Given the description of an element on the screen output the (x, y) to click on. 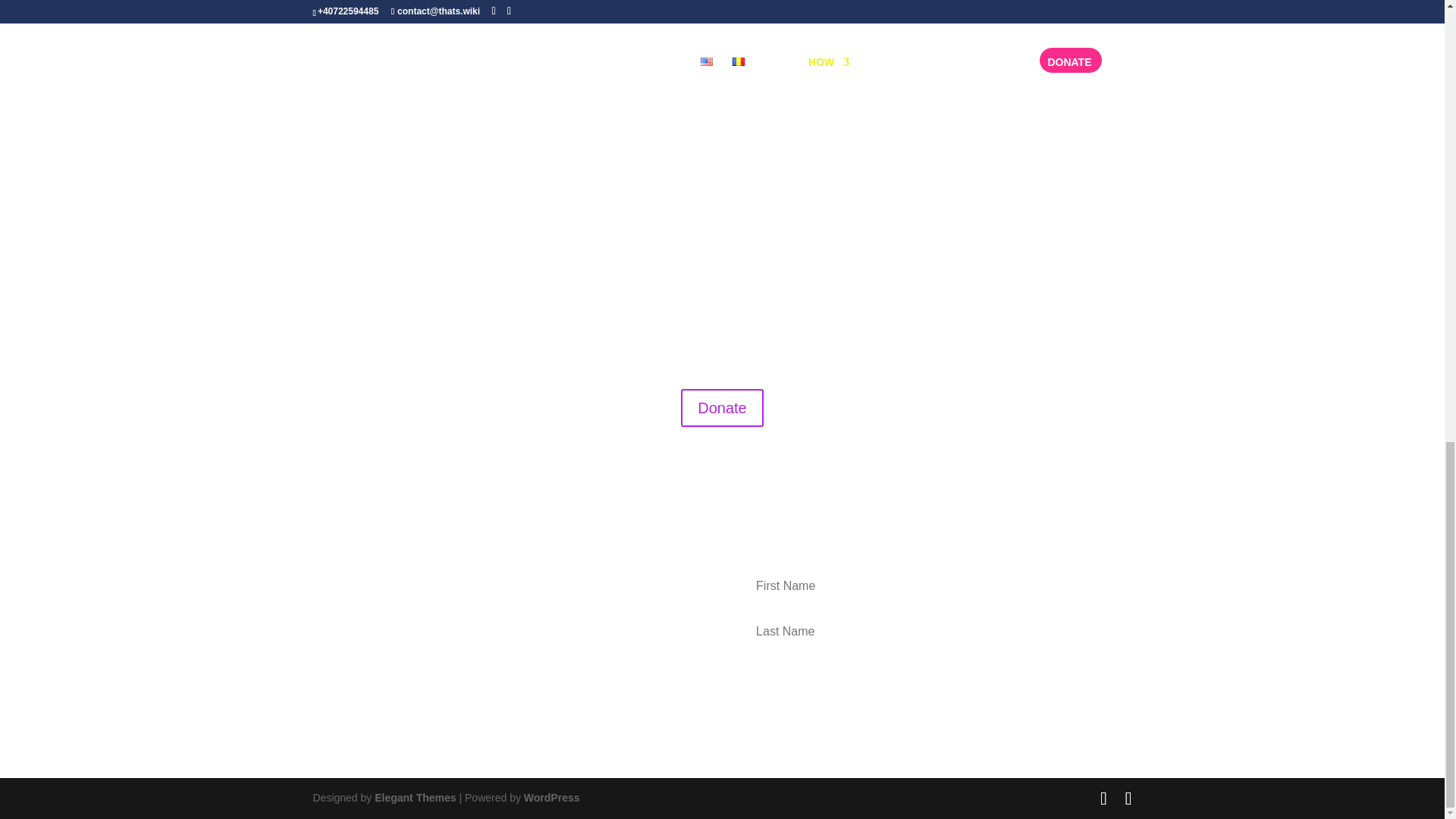
Subscribe (927, 678)
Donate (721, 407)
WordPress (551, 797)
Elegant Themes (414, 797)
Premium WordPress Themes (414, 797)
